Given the description of an element on the screen output the (x, y) to click on. 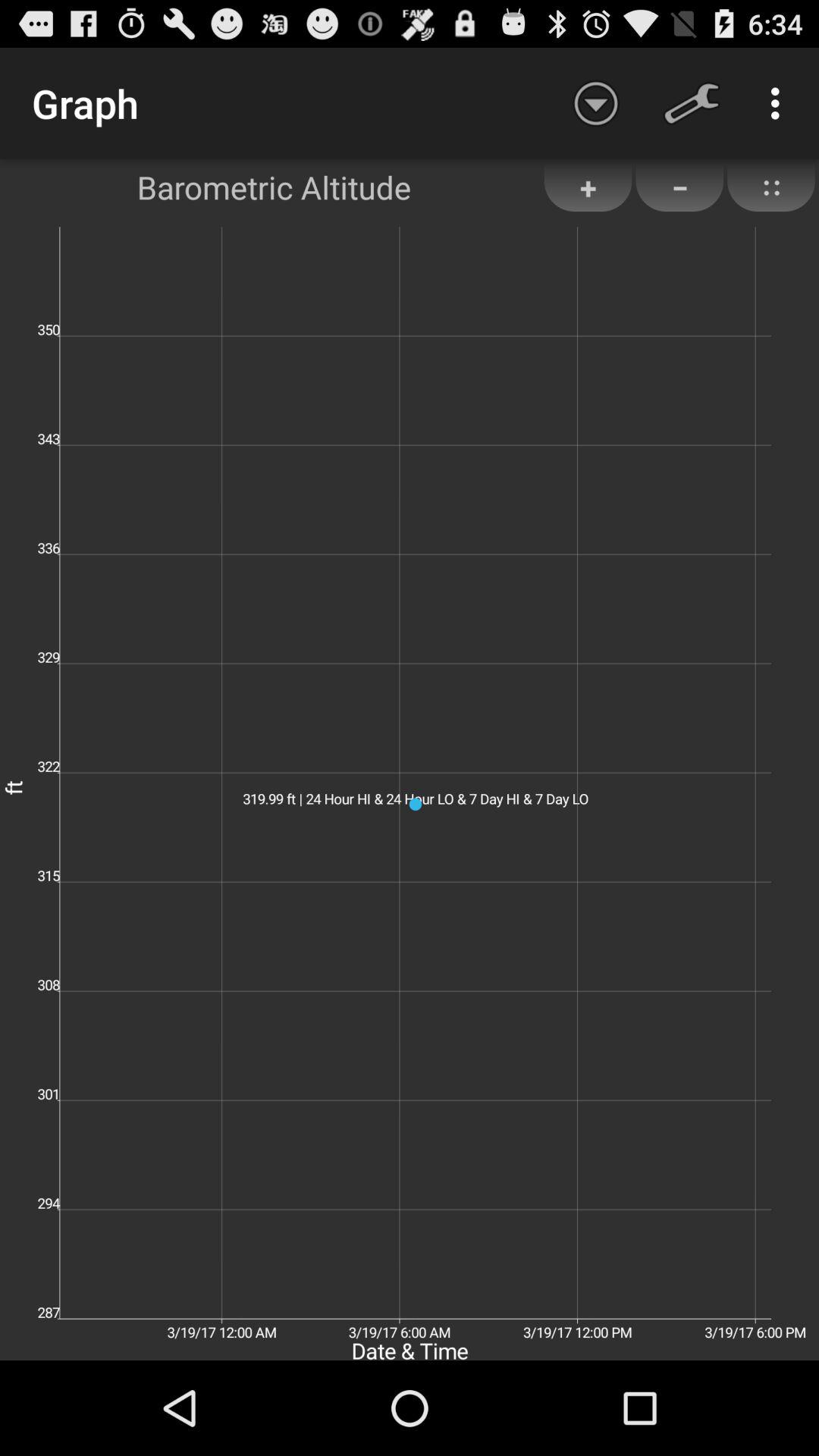
choose item next to the + app (679, 187)
